Given the description of an element on the screen output the (x, y) to click on. 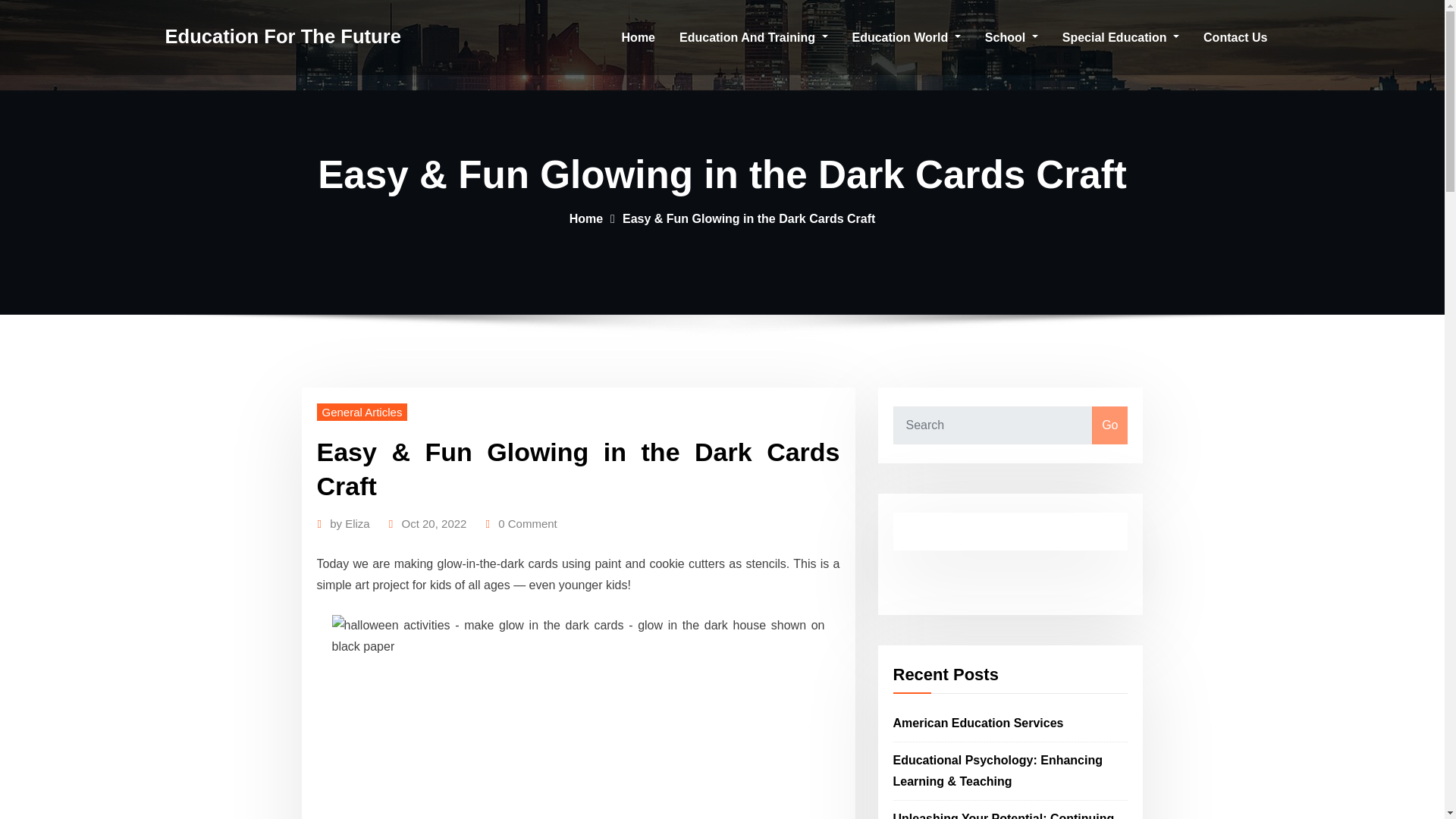
Oct 20, 2022 (434, 523)
Home (638, 37)
Contact Us (1235, 37)
Go (1109, 425)
School (1010, 37)
Special Education (1120, 37)
Education And Training (753, 37)
Education World (906, 37)
Education For The Future (283, 35)
American Education Services (978, 722)
Home (585, 218)
General Articles (362, 411)
Unleashing Your Potential: Continuing Education Tips (1004, 815)
by Eliza (349, 523)
0 Comment (527, 523)
